Given the description of an element on the screen output the (x, y) to click on. 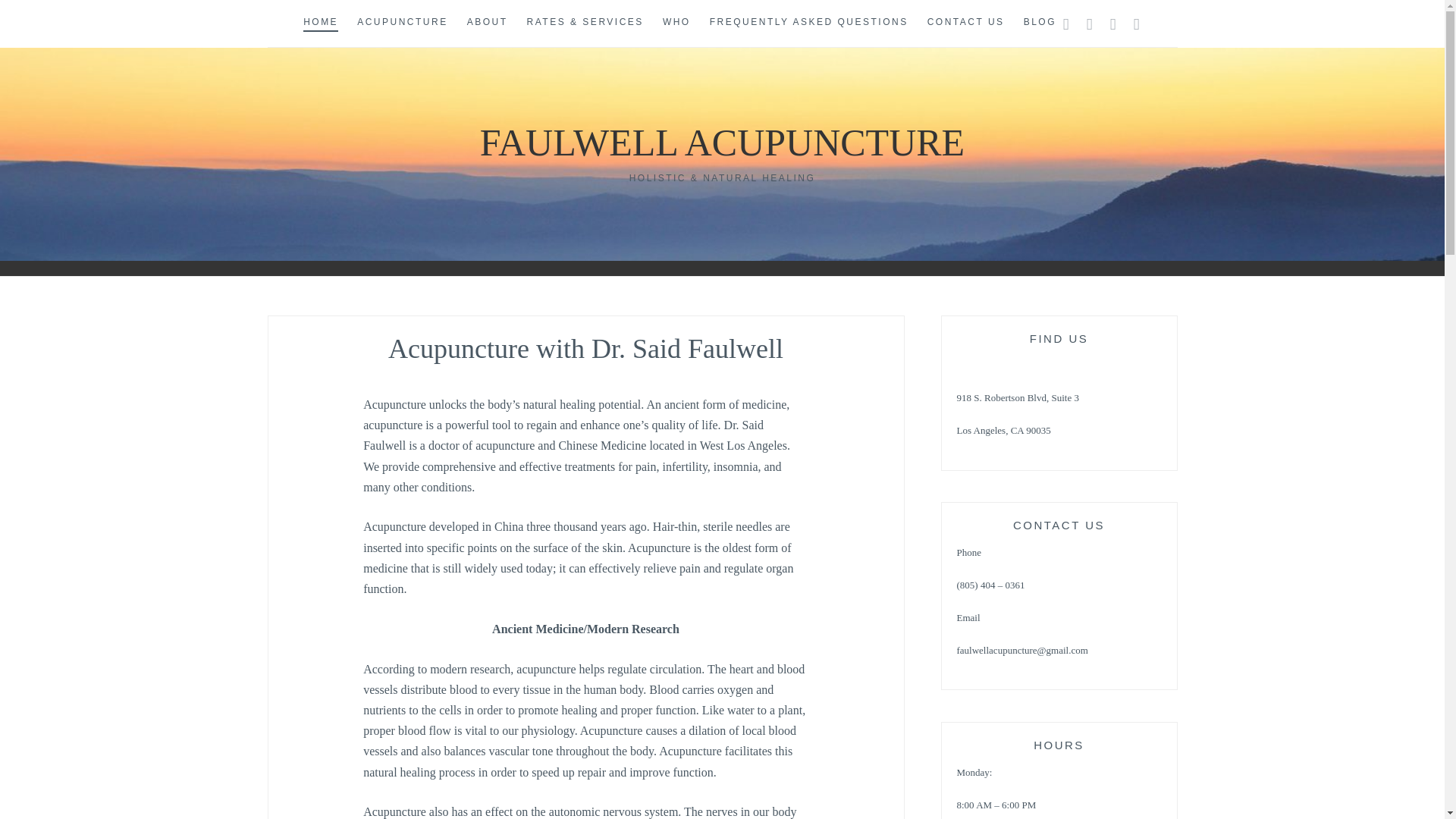
ACUPUNCTURE (402, 22)
FREQUENTLY ASKED QUESTIONS (809, 22)
FAULWELL ACUPUNCTURE (721, 142)
CONTACT US (965, 22)
WHO (676, 22)
HOME (319, 22)
BLOG (1040, 22)
ABOUT (487, 22)
